Given the description of an element on the screen output the (x, y) to click on. 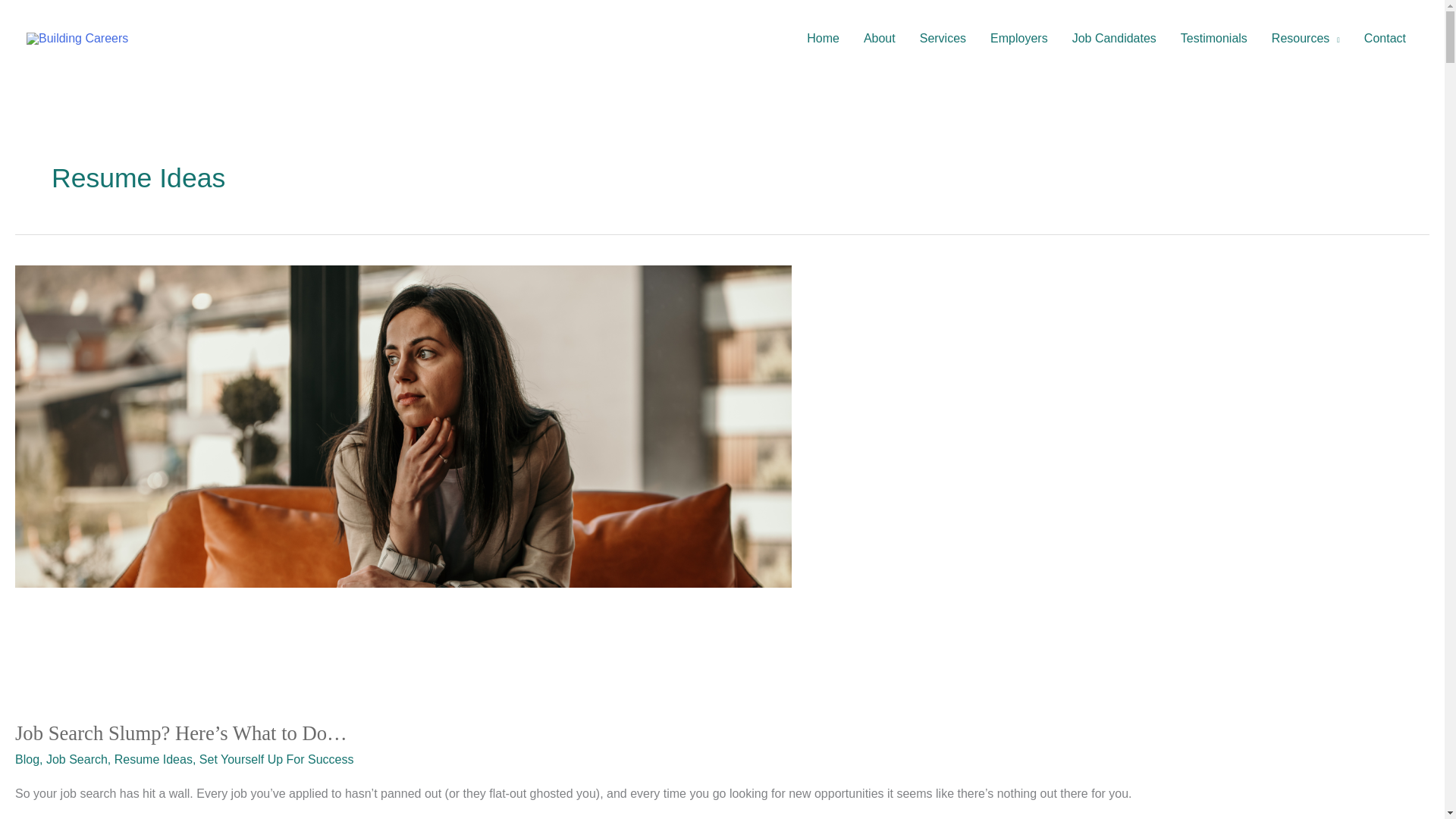
Blog (26, 758)
Resources (1305, 38)
Contact (1385, 38)
Job Search (76, 758)
Set Yourself Up For Success (276, 758)
Resume Ideas (153, 758)
Job Candidates (1114, 38)
Home (822, 38)
Testimonials (1214, 38)
About (879, 38)
